Given the description of an element on the screen output the (x, y) to click on. 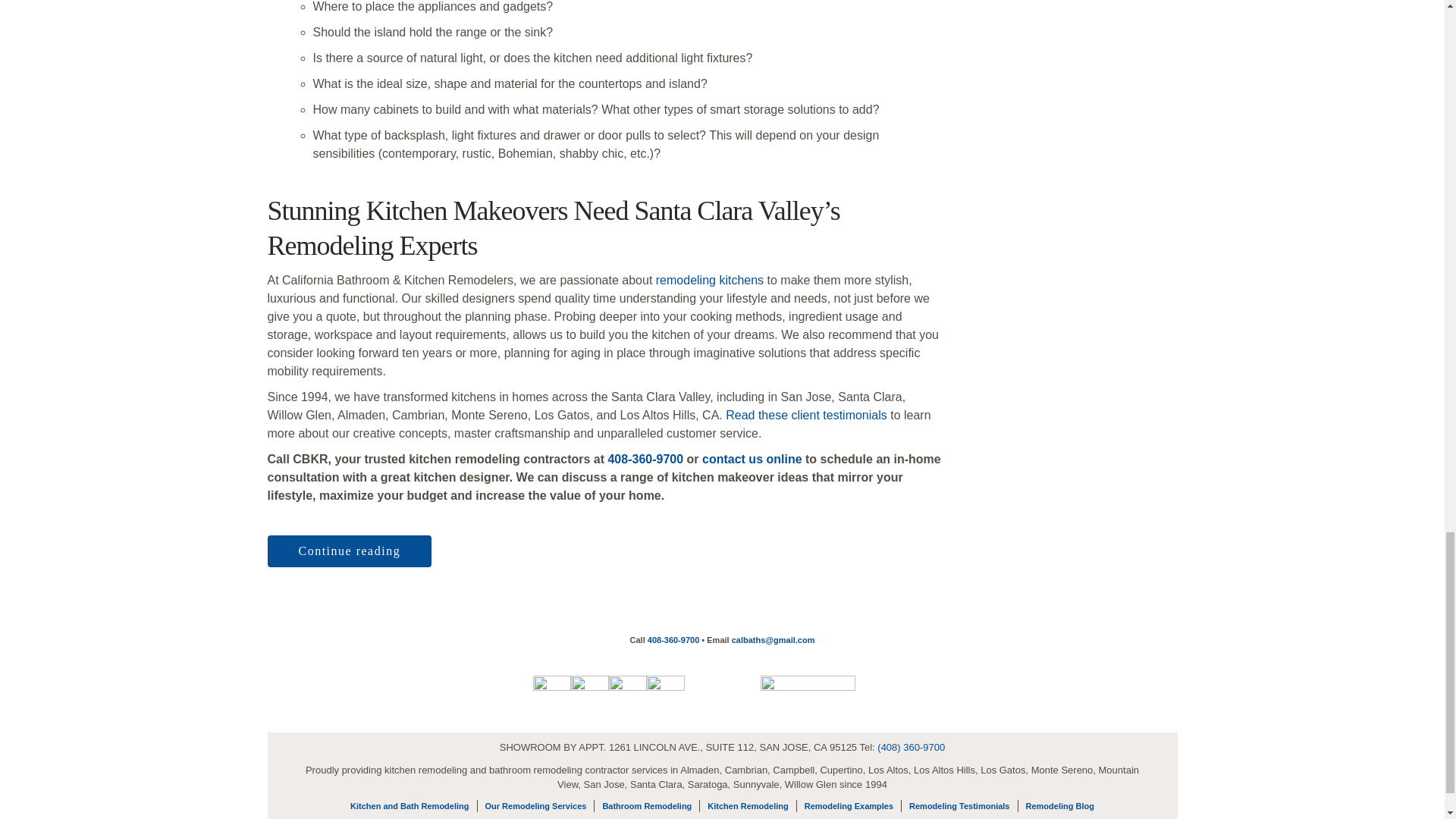
Continue reading (348, 551)
408-360-9700 (644, 459)
Read these client testimonials (805, 414)
contact us online (751, 459)
remodeling kitchens (709, 279)
